Given the description of an element on the screen output the (x, y) to click on. 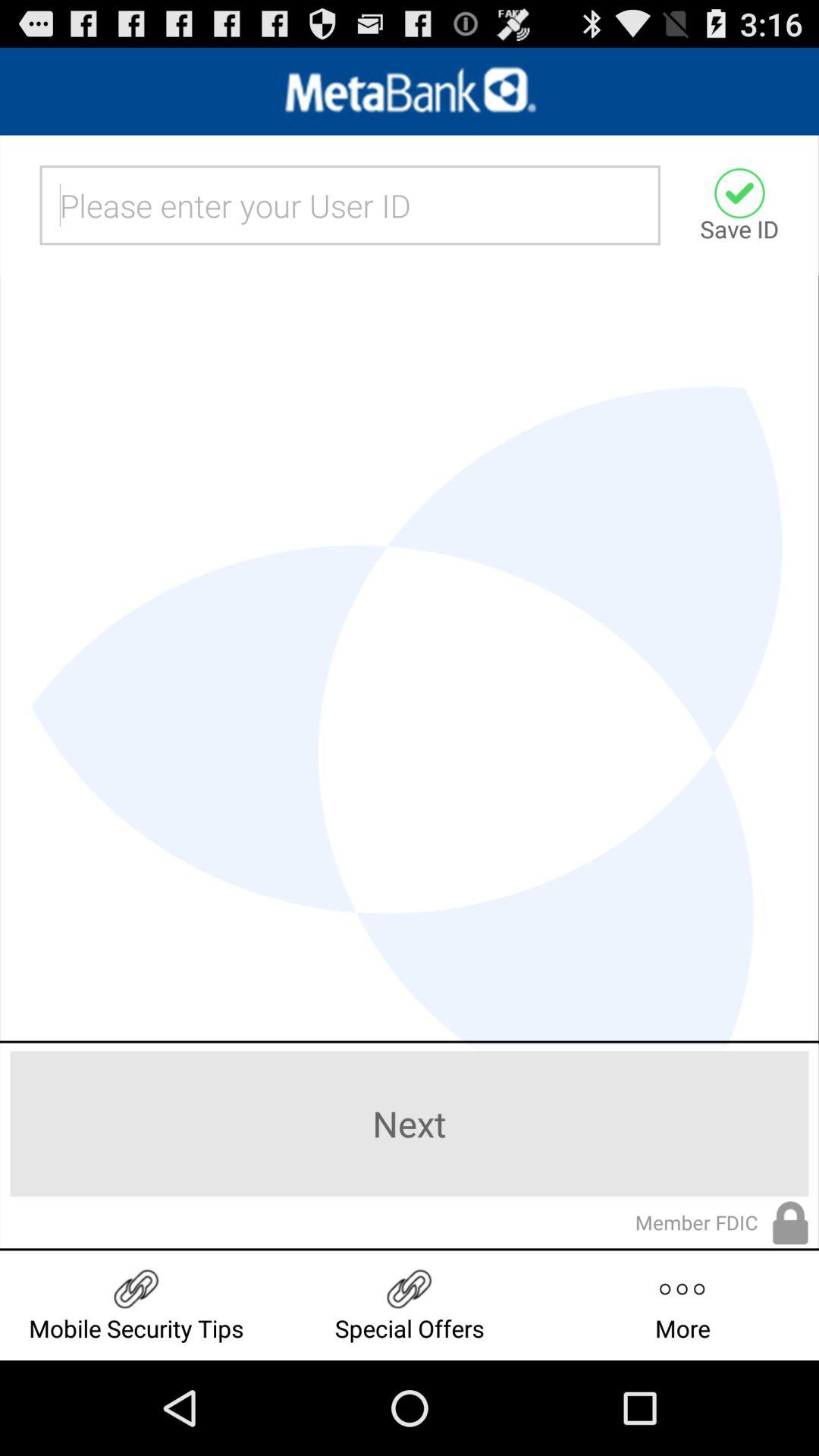
click to enter your user id (349, 205)
